Given the description of an element on the screen output the (x, y) to click on. 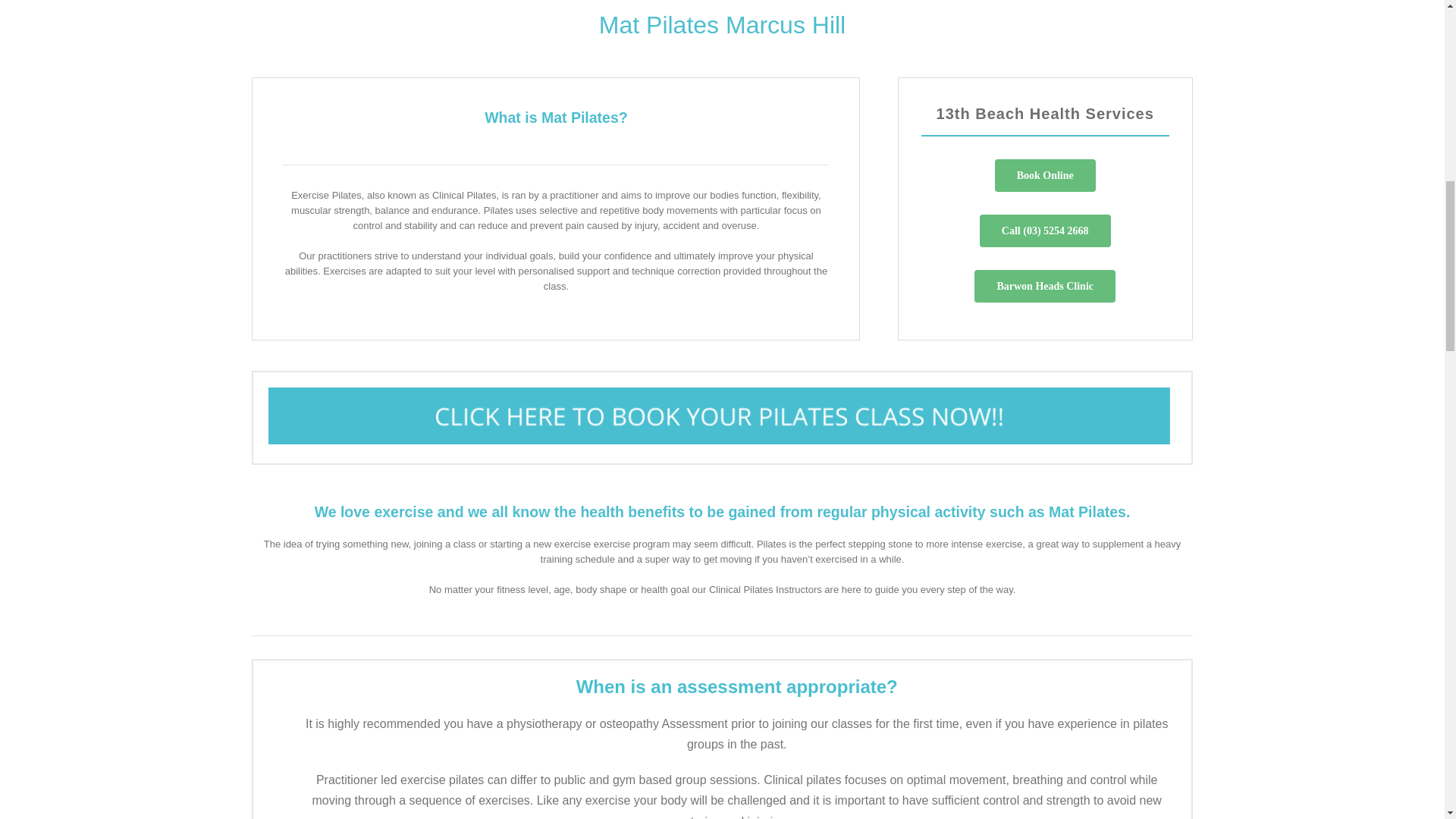
Mat Pilates Marcus Hill (722, 38)
